Given the description of an element on the screen output the (x, y) to click on. 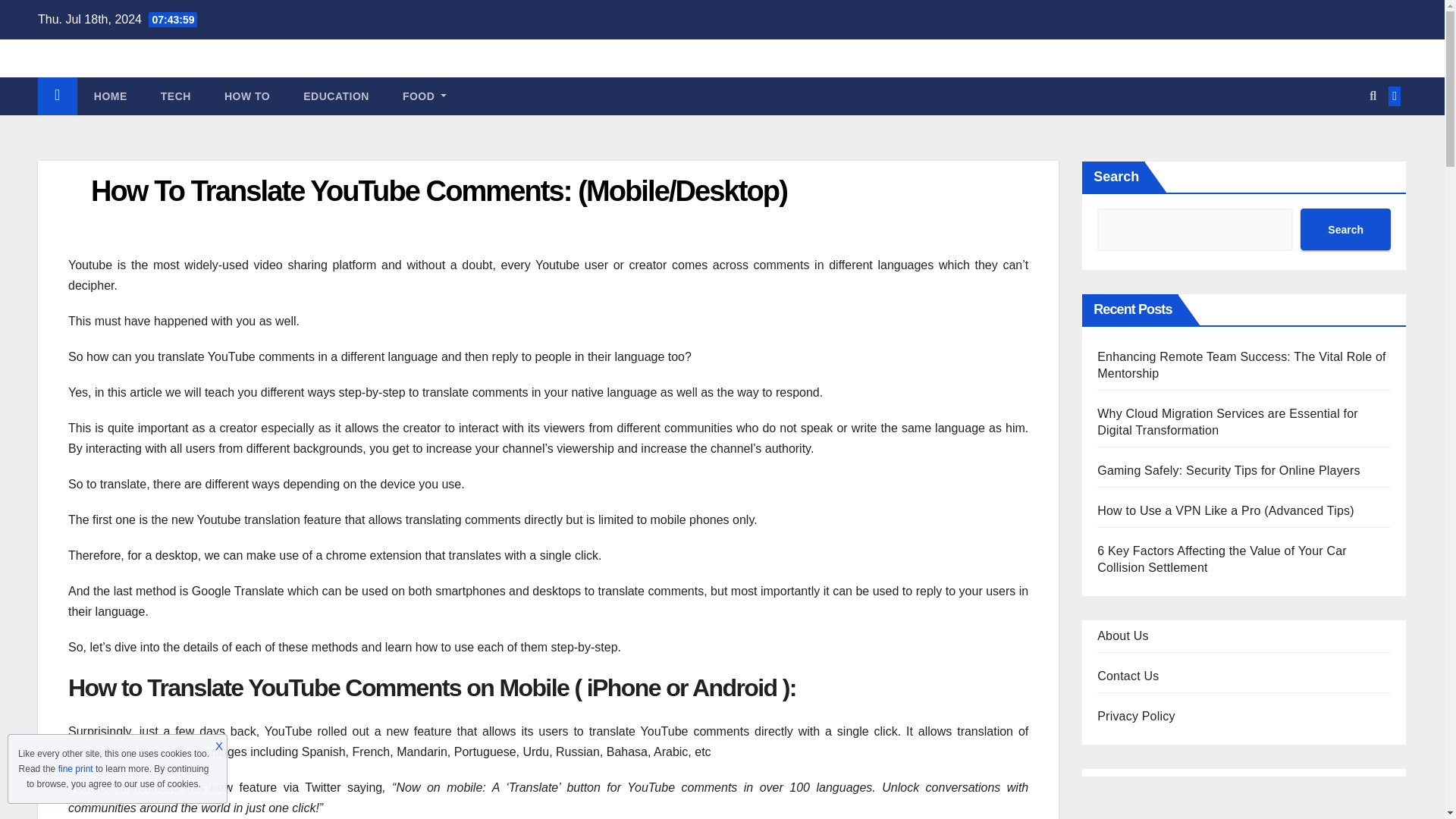
Search (1345, 229)
Education (335, 95)
HOW TO (247, 95)
Tech (176, 95)
Enhancing Remote Team Success: The Vital Role of Mentorship (1241, 365)
FOOD (424, 95)
Food (424, 95)
Home (110, 95)
HOME (110, 95)
EDUCATION (335, 95)
How To (247, 95)
Gaming Safely: Security Tips for Online Players (1228, 470)
TECH (176, 95)
